Given the description of an element on the screen output the (x, y) to click on. 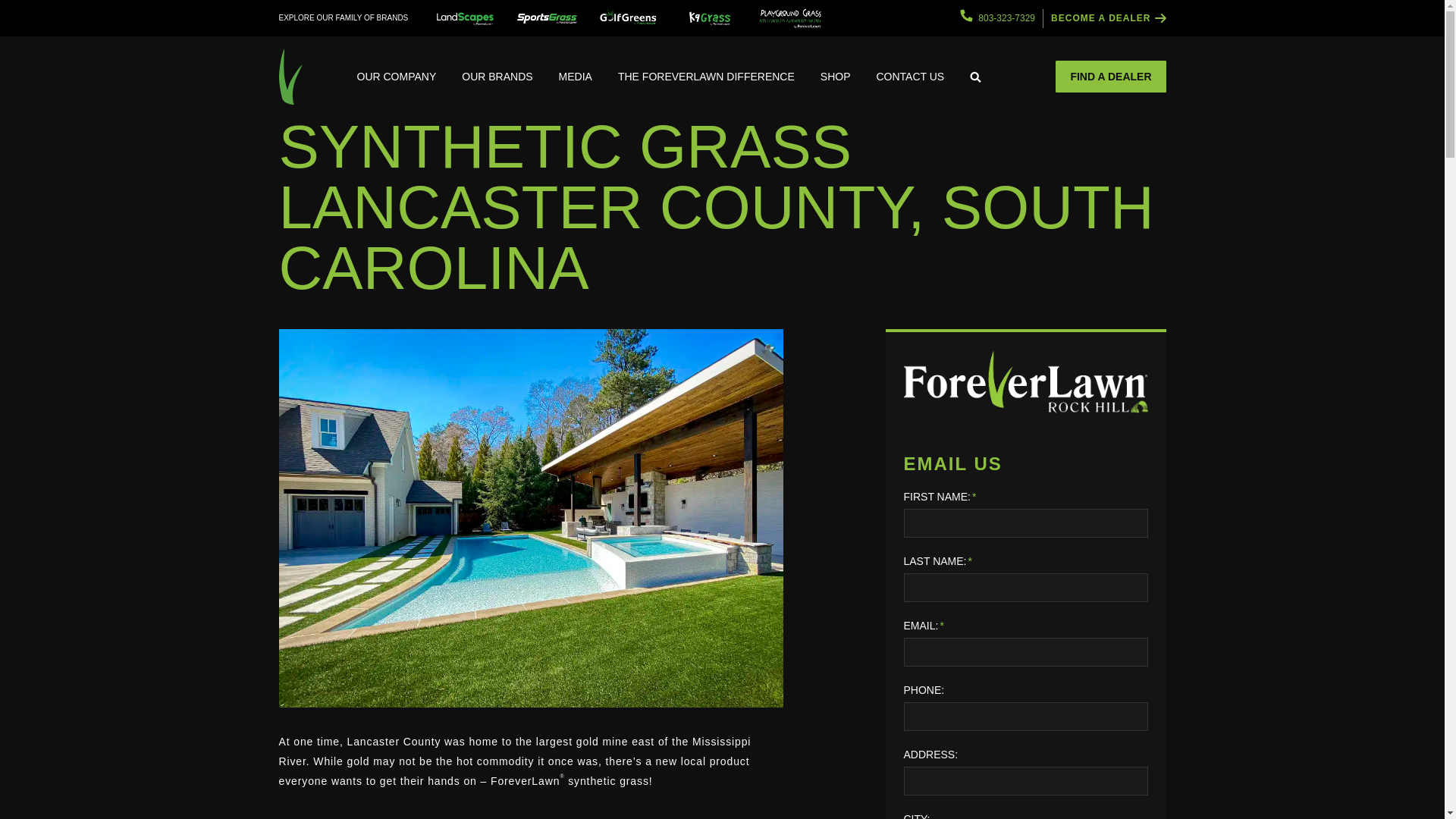
CONTACT US (909, 76)
SHOP (835, 76)
OUR BRANDS (496, 76)
THE FOREVERLAWN DIFFERENCE (706, 76)
MEDIA (575, 76)
OUR COMPANY (396, 76)
803-323-7329 (997, 18)
FIND A DEALER (1110, 76)
BECOME A DEALER (1108, 18)
